Given the description of an element on the screen output the (x, y) to click on. 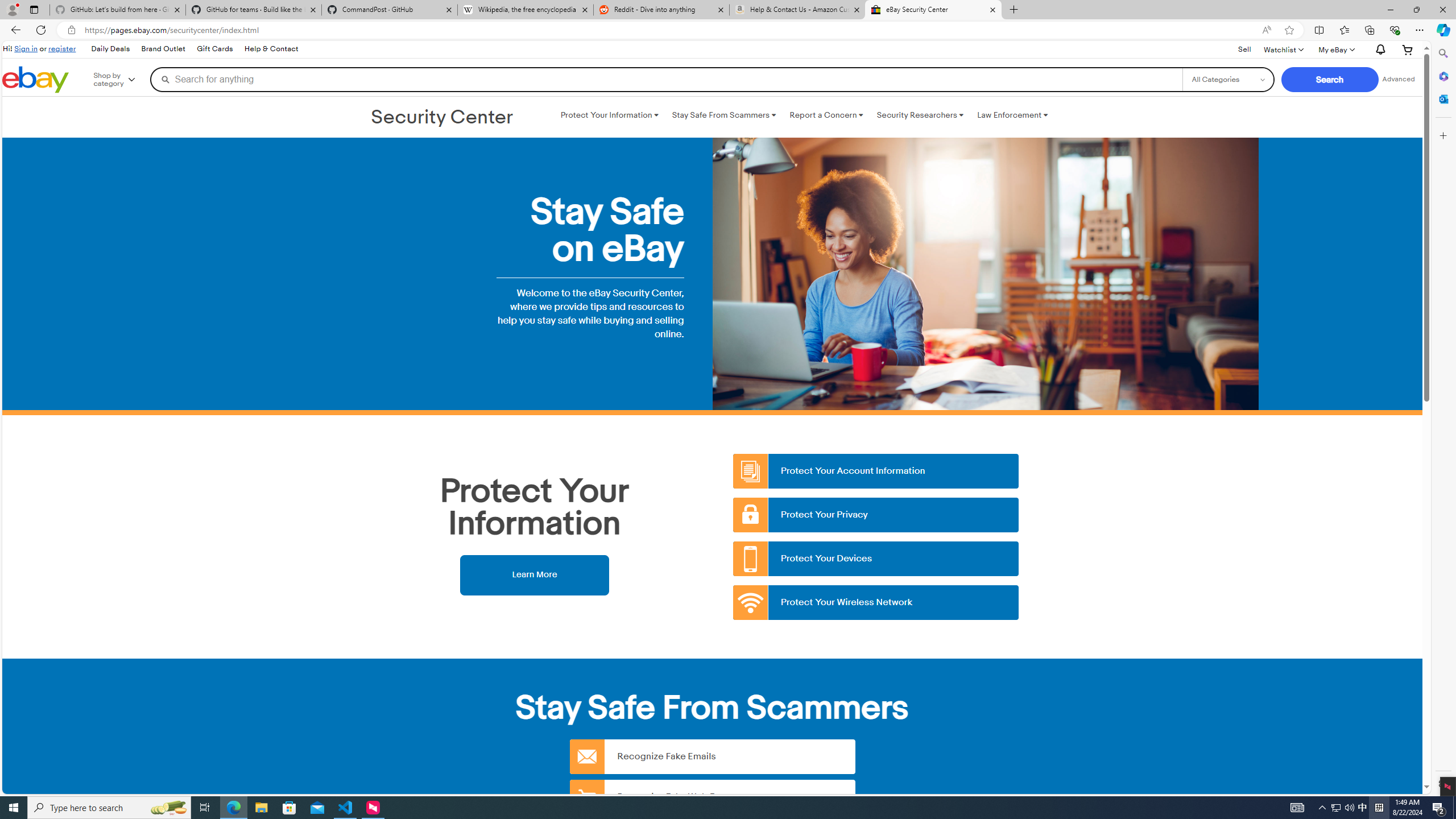
eBay Security Center (933, 9)
Select a category for search (1228, 78)
Reddit - Dive into anything (660, 9)
Security Researchers  (919, 115)
My eBay (1335, 49)
Watchlist (1282, 49)
My eBayExpand My eBay (1335, 49)
Customize (1442, 135)
register (61, 48)
WatchlistExpand Watch List (1282, 49)
Brand Outlet (163, 49)
Law Enforcement  (1012, 115)
